Given the description of an element on the screen output the (x, y) to click on. 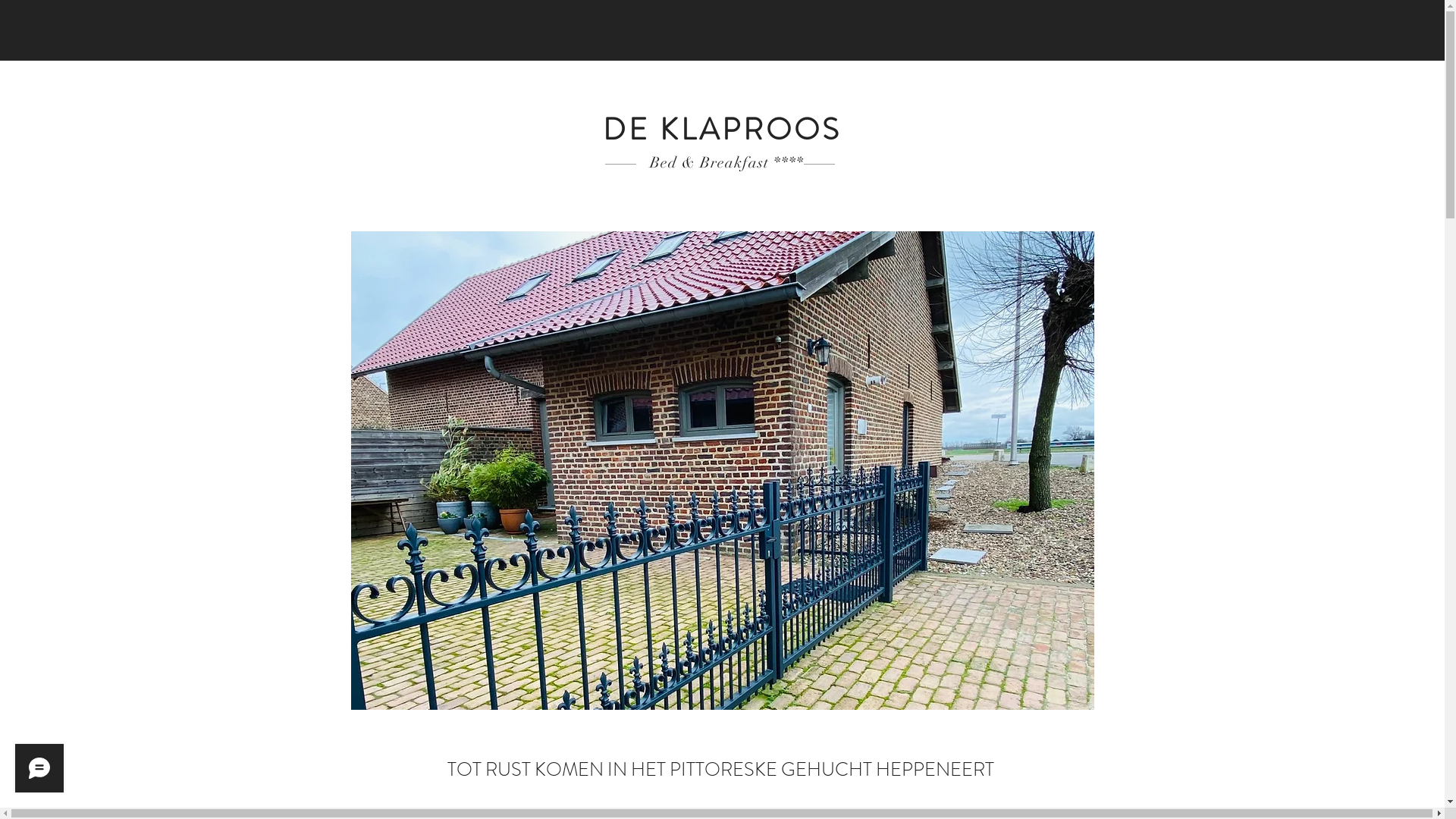
Wix Chat Element type: hover (35, 771)
